Given the description of an element on the screen output the (x, y) to click on. 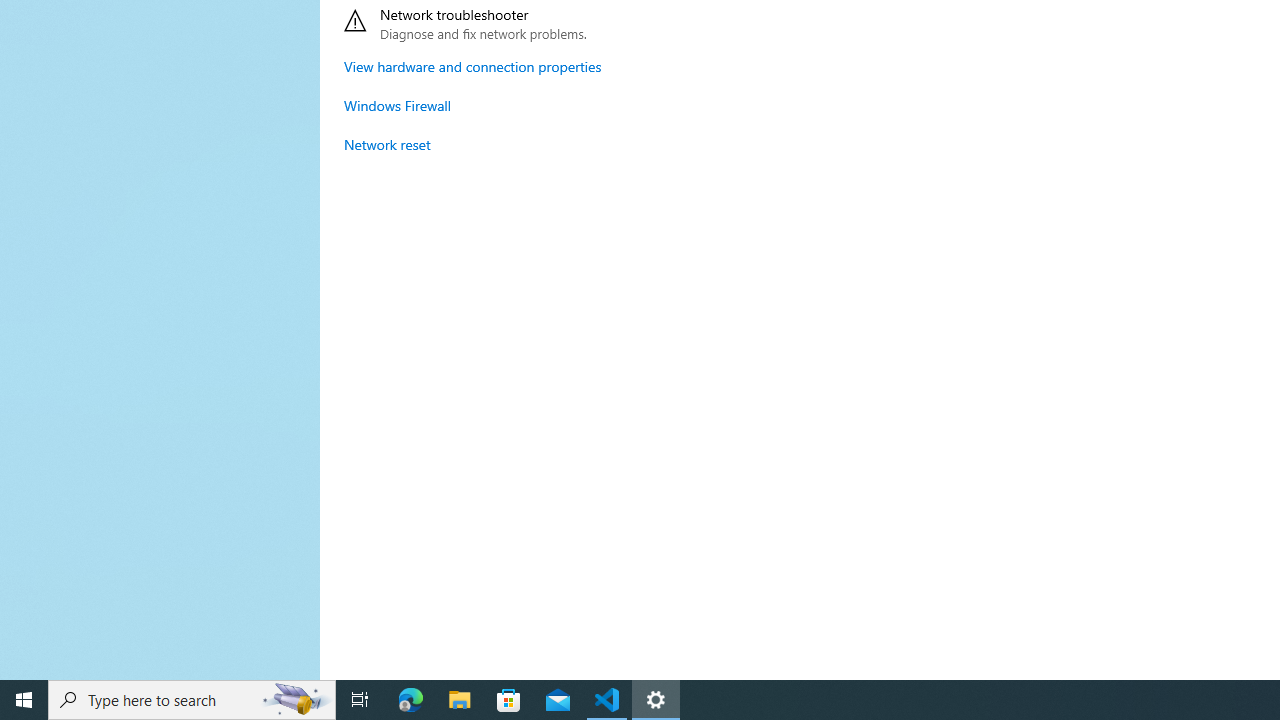
Windows Firewall (397, 105)
Network reset (387, 144)
View hardware and connection properties (472, 66)
